Given the description of an element on the screen output the (x, y) to click on. 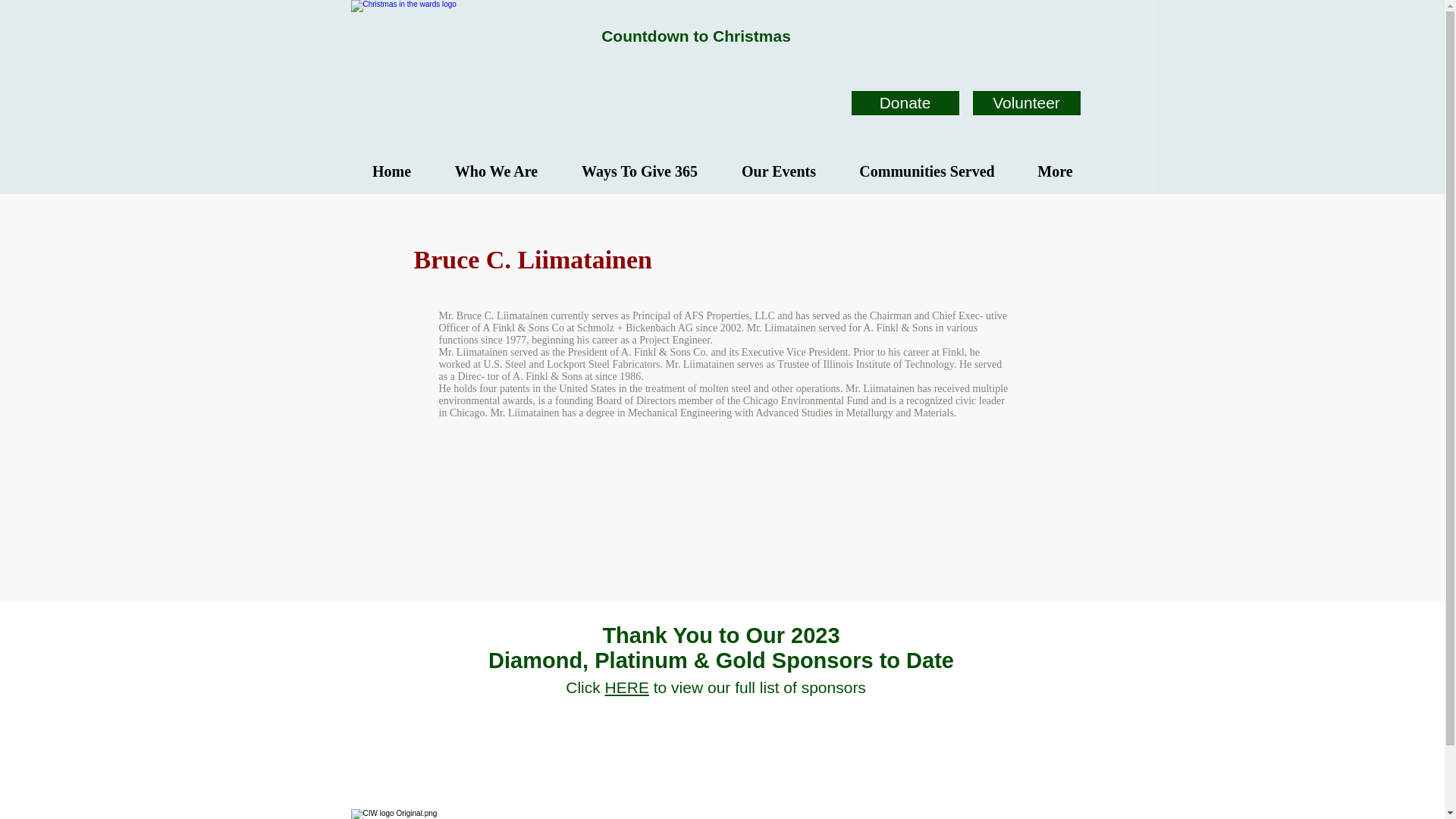
Ways To Give 365 (639, 171)
Volunteer (1026, 102)
Who We Are (495, 171)
Donate (904, 102)
Home (391, 171)
Communities Served (925, 171)
Our Events (778, 171)
HERE (627, 687)
